Given the description of an element on the screen output the (x, y) to click on. 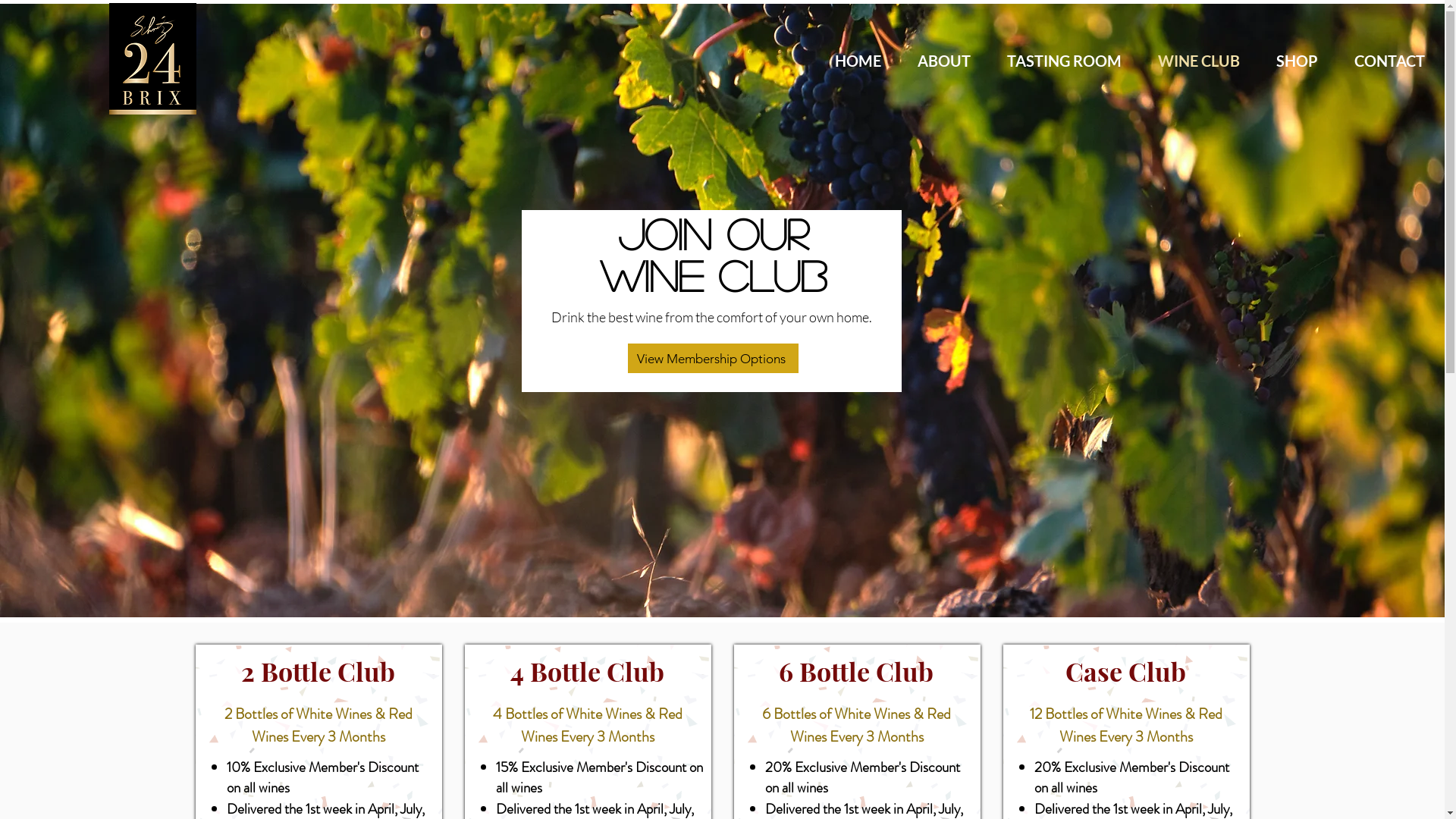
ABOUT Element type: text (943, 61)
CONTACT Element type: text (1389, 61)
SHOP Element type: text (1297, 61)
WINE CLUB Element type: text (1198, 61)
TASTING ROOM Element type: text (1063, 61)
View Membership Options Element type: text (712, 358)
HOME Element type: text (857, 61)
